Given the description of an element on the screen output the (x, y) to click on. 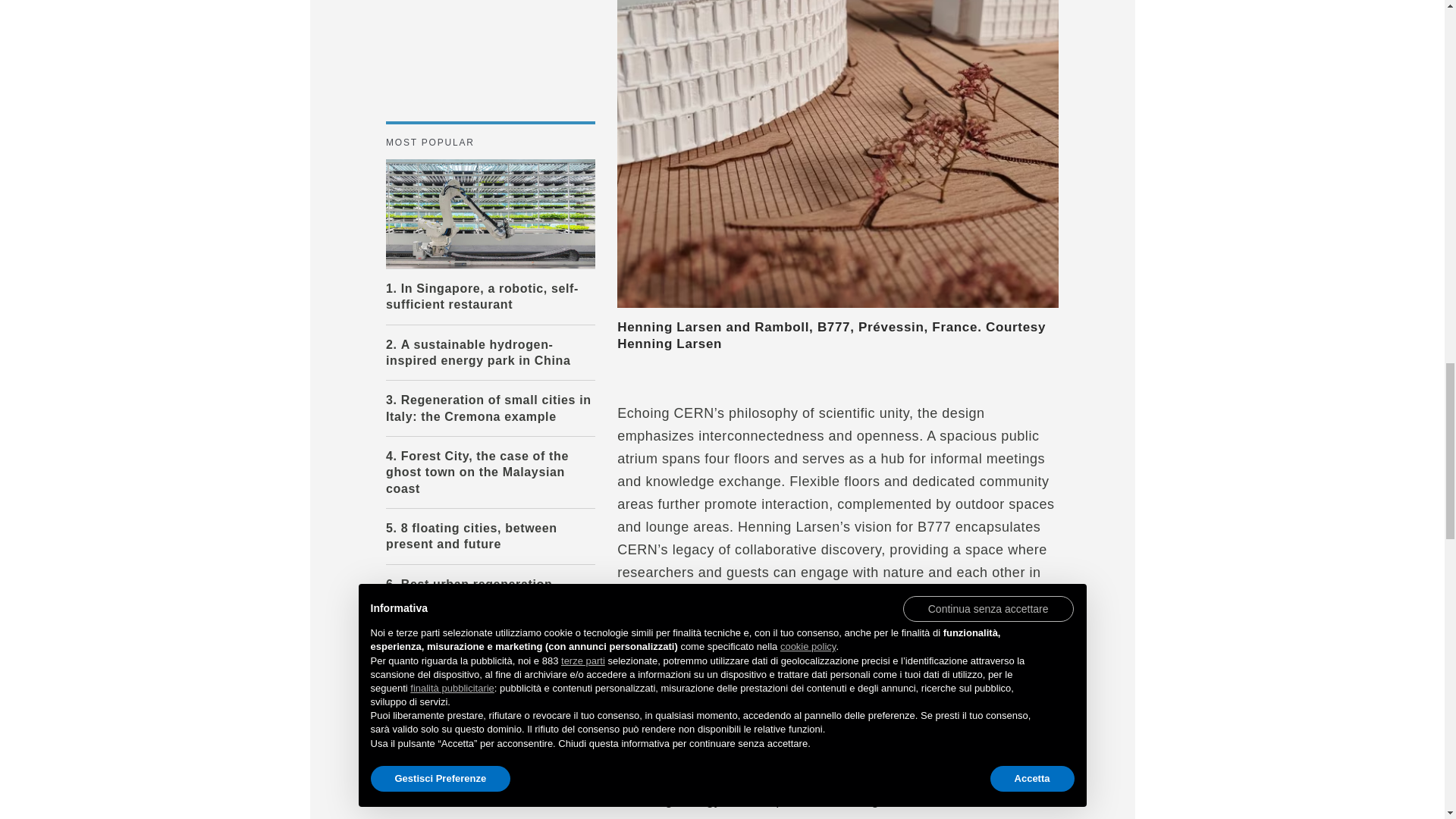
In Singapore, a robotic, self-sufficient restaurant (489, 212)
